Given the description of an element on the screen output the (x, y) to click on. 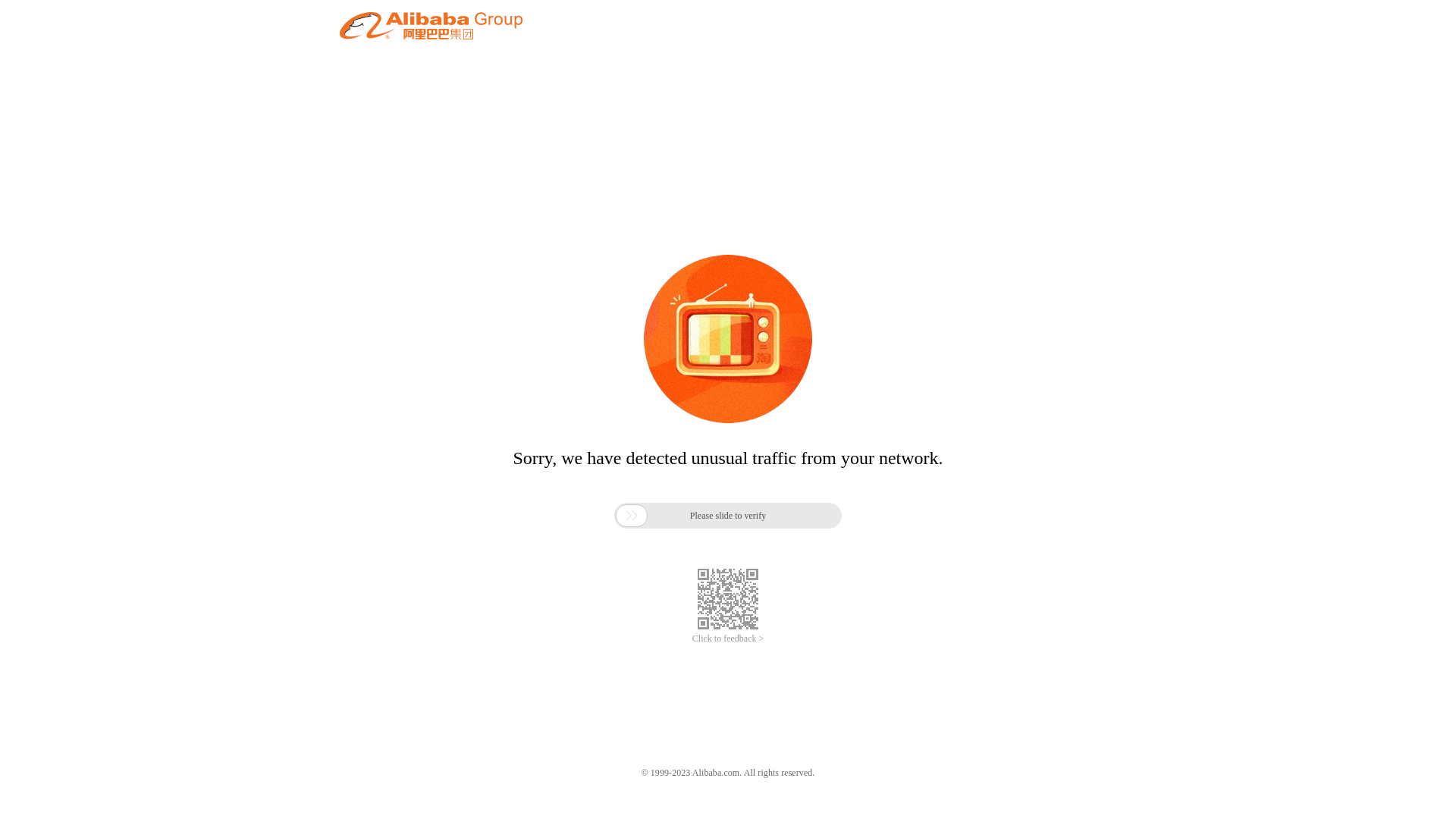
Click to feedback > Element type: text (727, 638)
